Given the description of an element on the screen output the (x, y) to click on. 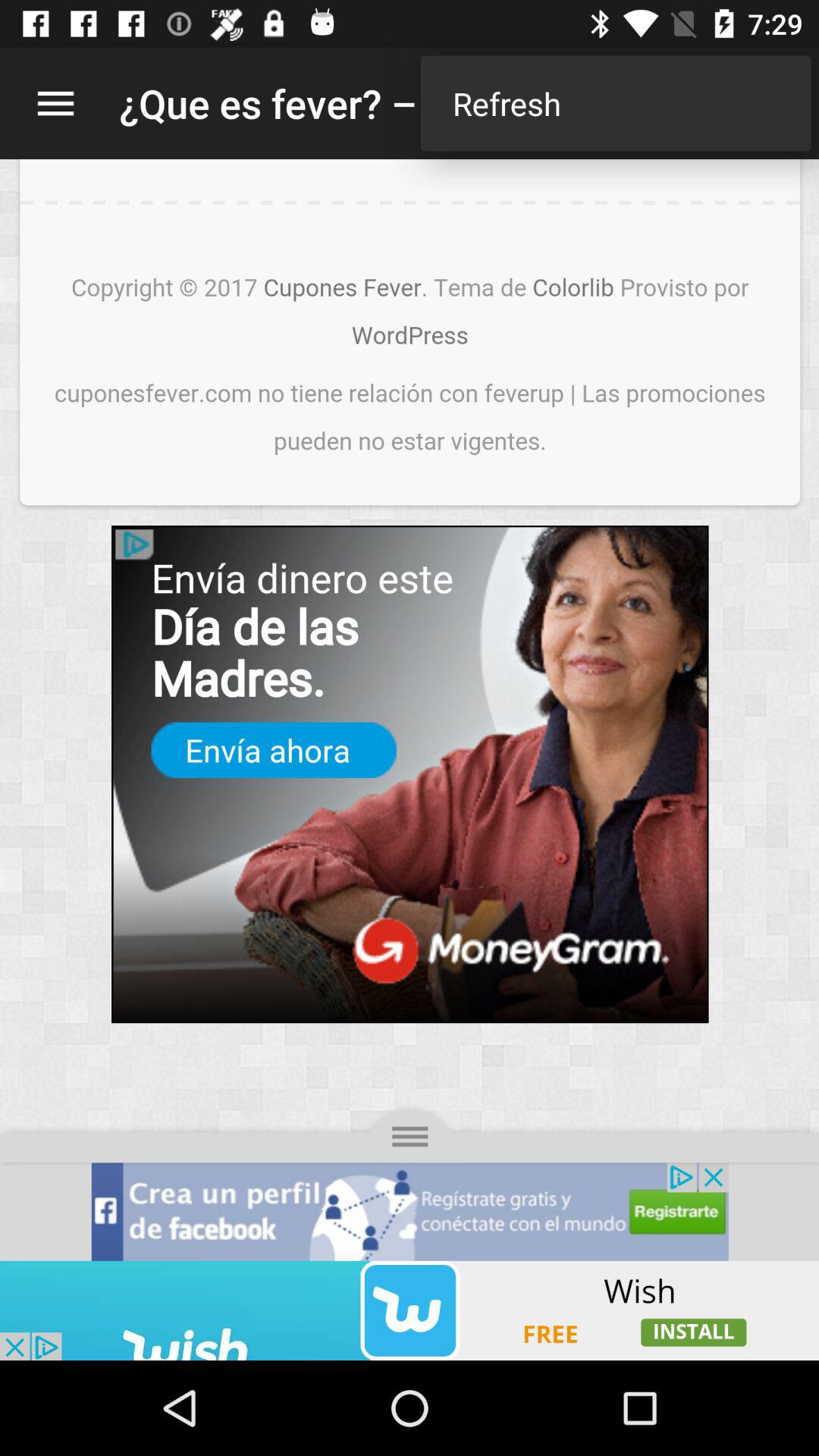
go to advertisement (409, 1310)
